Given the description of an element on the screen output the (x, y) to click on. 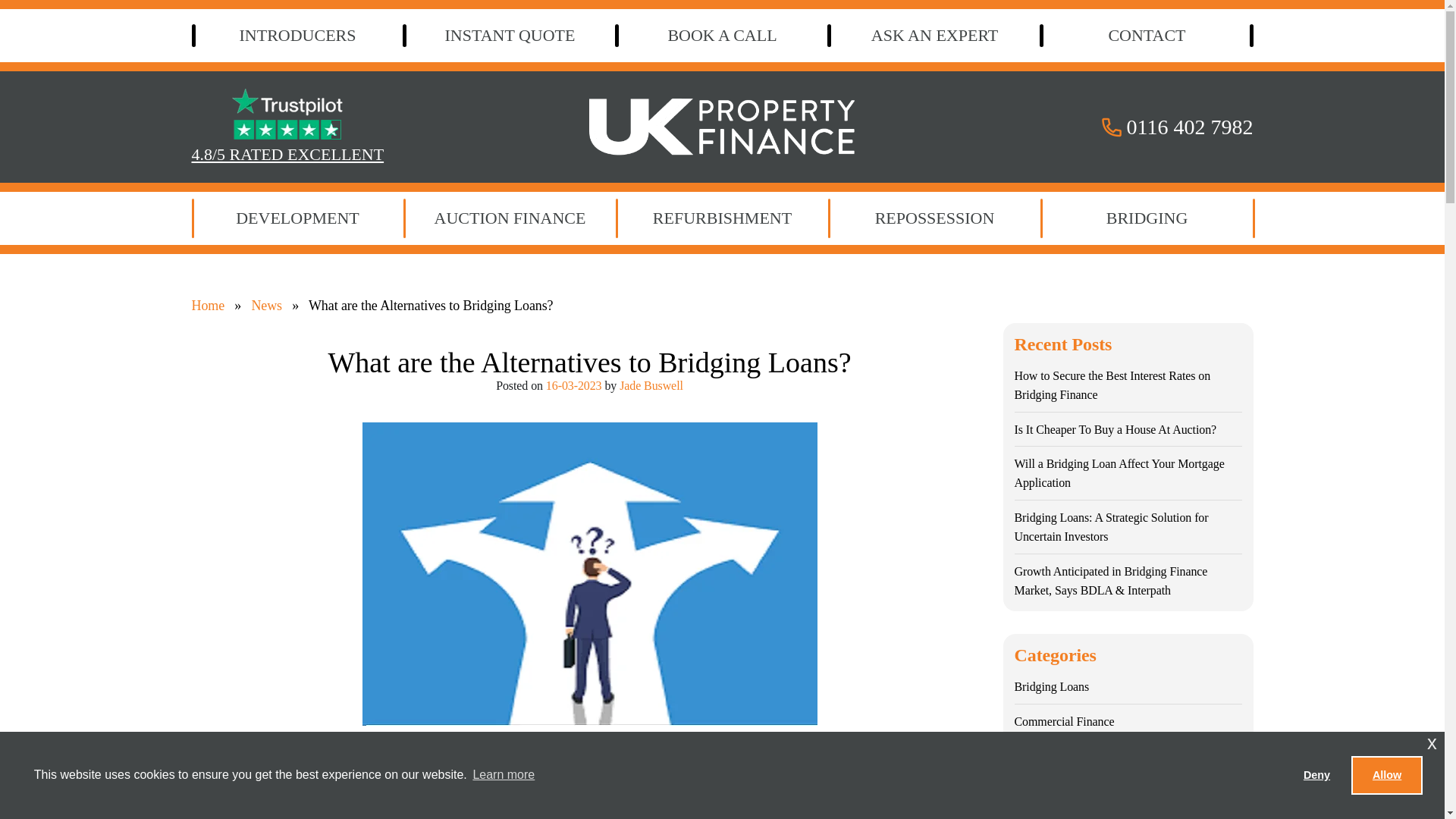
INTRODUCERS (296, 35)
INSTANT QUOTE (509, 35)
Bridging Loans .co.uk (722, 120)
BOOK A CALL (721, 35)
CONTACT (1146, 35)
ASK AN EXPERT (934, 35)
DEVELOPMENT (296, 217)
Rated excellent Trustpilot (287, 115)
0116 402 7982 (1175, 126)
